Given the description of an element on the screen output the (x, y) to click on. 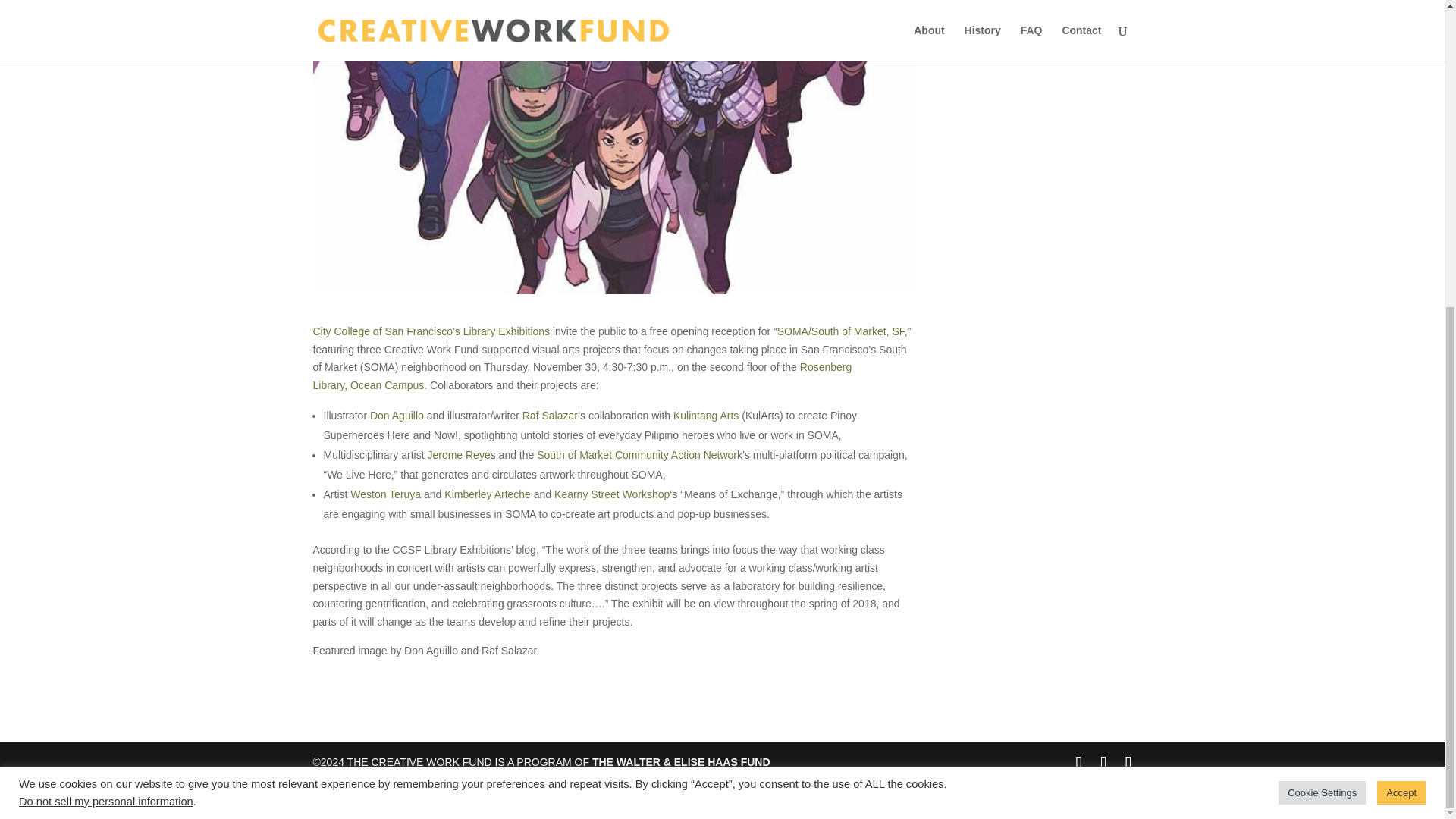
Jerome Reye (457, 454)
THE WILLIAM AND FLORA HEWLETT FOUNDATION. (676, 779)
Weston Teruya (385, 494)
Kearny Street Workshop (611, 494)
South of Market Community Action Networ (636, 454)
Kulintang Arts (705, 415)
Ocean Campus (386, 385)
Don Aguillo (396, 415)
Raf Salazar (550, 415)
Rosenberg Library,  (582, 376)
Kimberley Arteche (487, 494)
Library Exhibitions (506, 331)
